Given the description of an element on the screen output the (x, y) to click on. 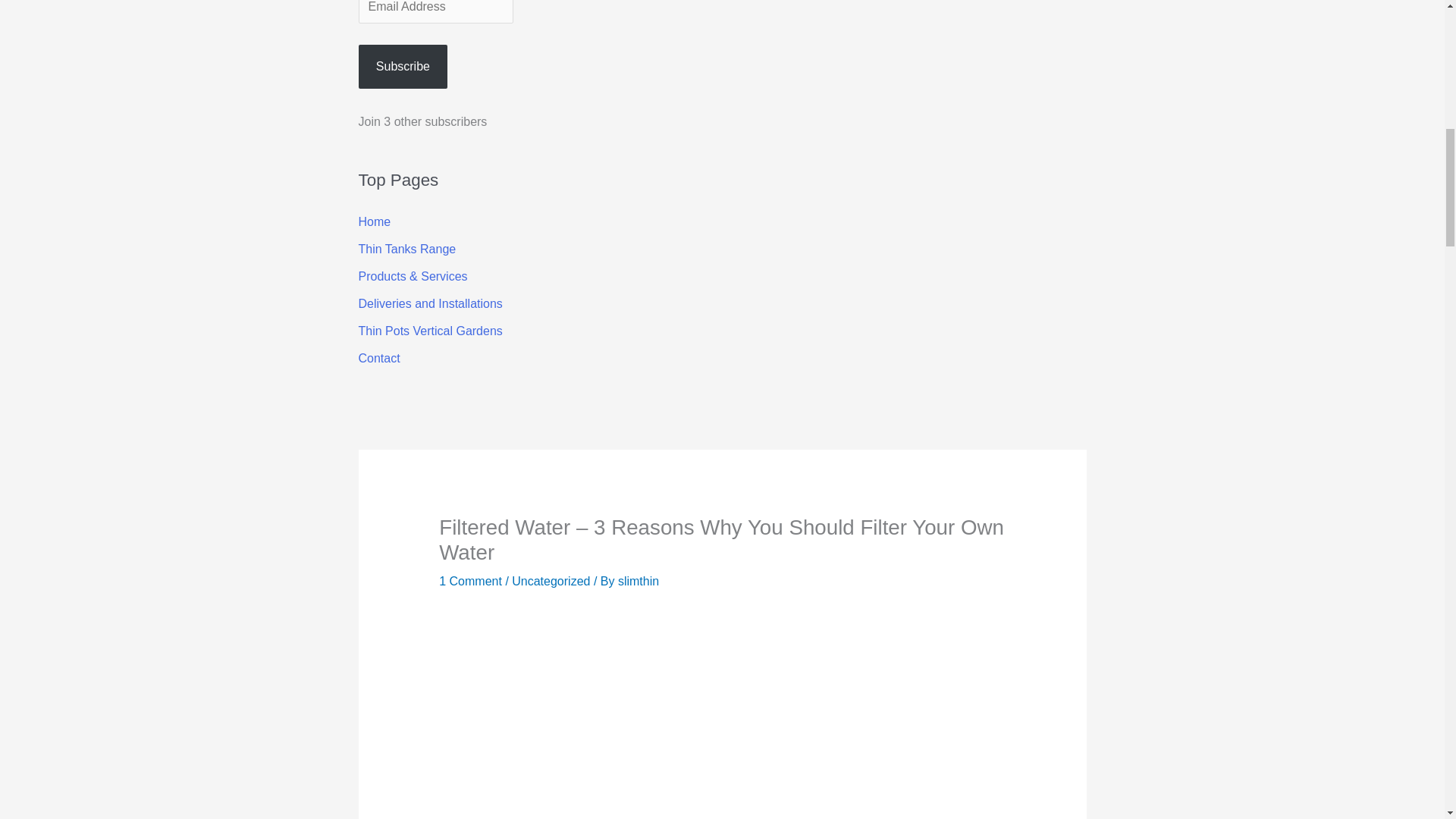
Thin Tanks Range (406, 248)
Deliveries and Installations (430, 303)
Contact (378, 358)
Uncategorized (550, 581)
Thin Pots Vertical Gardens (430, 330)
1 Comment (470, 581)
Subscribe (402, 66)
View all posts by slimthin (638, 581)
slimthin (638, 581)
Home (374, 221)
